Given the description of an element on the screen output the (x, y) to click on. 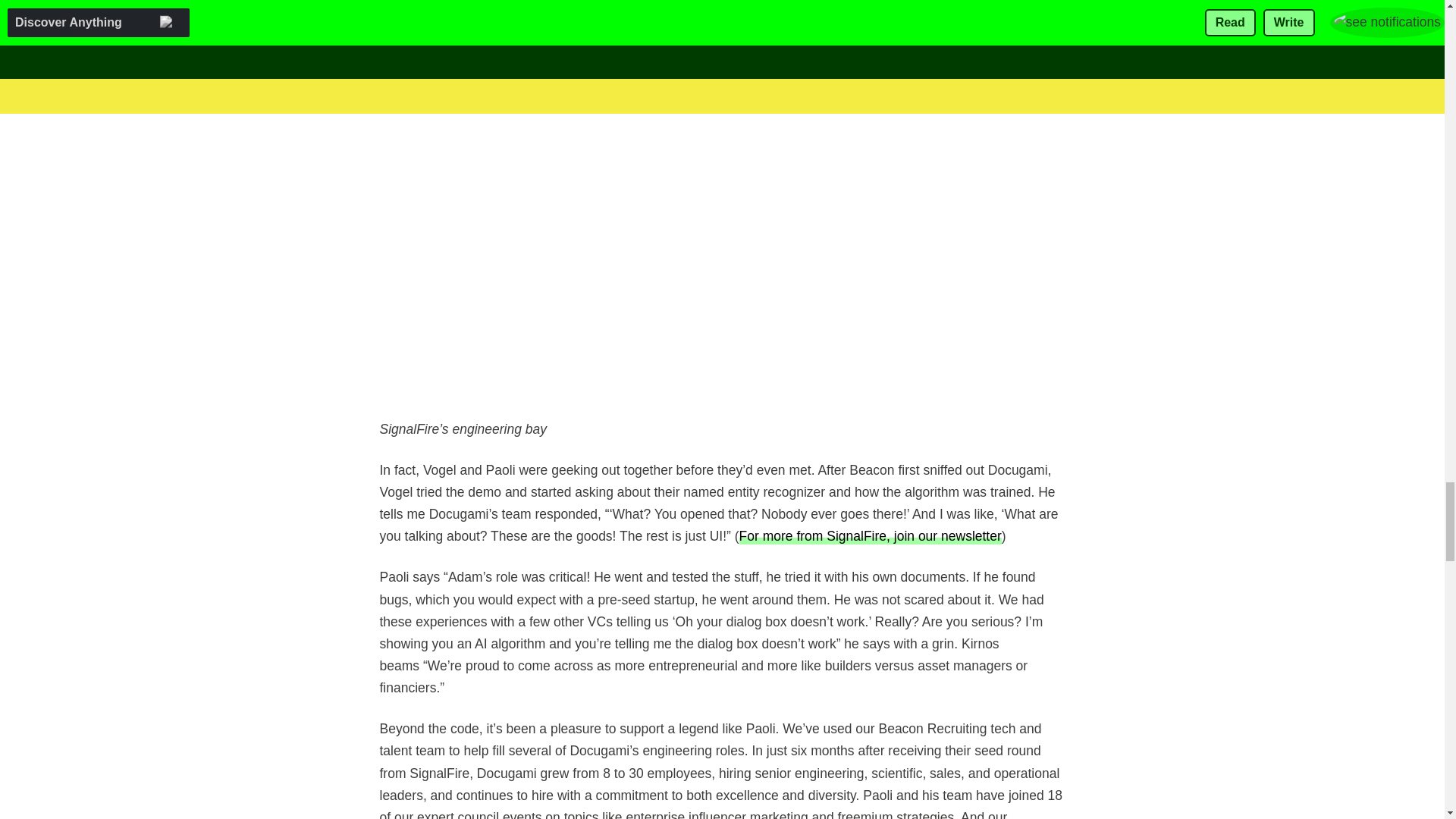
For more from SignalFire, join our newsletter (870, 535)
